Given the description of an element on the screen output the (x, y) to click on. 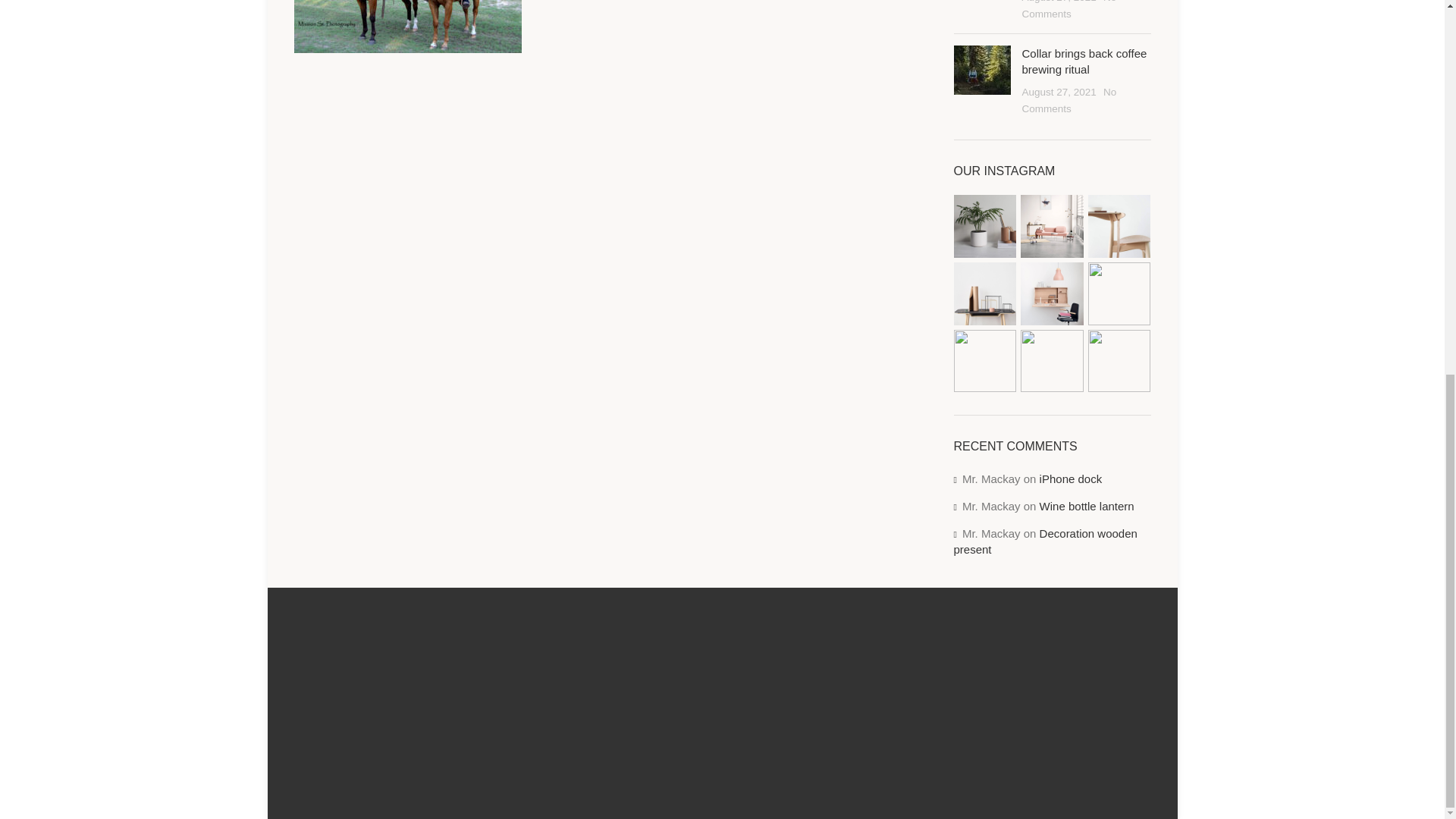
iPhone dock (1070, 478)
Permalink to Collar brings back coffee brewing ritual (1084, 61)
camping-blog-img-3 (981, 70)
No Comments (1069, 100)
Collar brings back coffee brewing ritual (1084, 61)
No Comments (1069, 9)
